Given the description of an element on the screen output the (x, y) to click on. 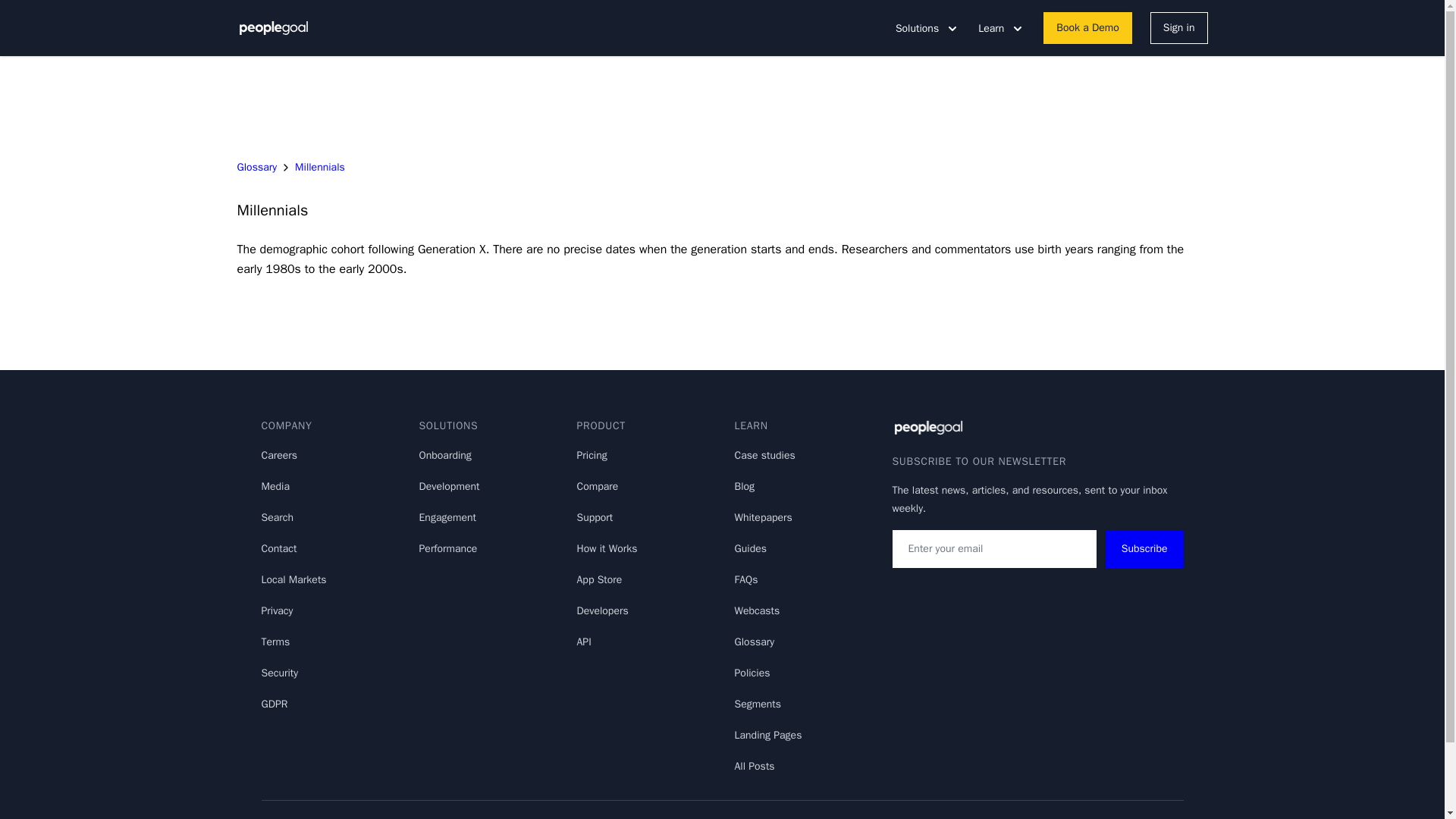
Guides (750, 548)
Whitepapers (762, 517)
Media (274, 486)
Terms (274, 641)
Developers (601, 610)
Glossary (255, 166)
Webcasts (755, 610)
Engagement (447, 517)
API (583, 641)
Privacy (276, 610)
Search (277, 517)
Case studies (763, 454)
Compare (596, 486)
Solutions (927, 28)
Learn (1001, 28)
